Given the description of an element on the screen output the (x, y) to click on. 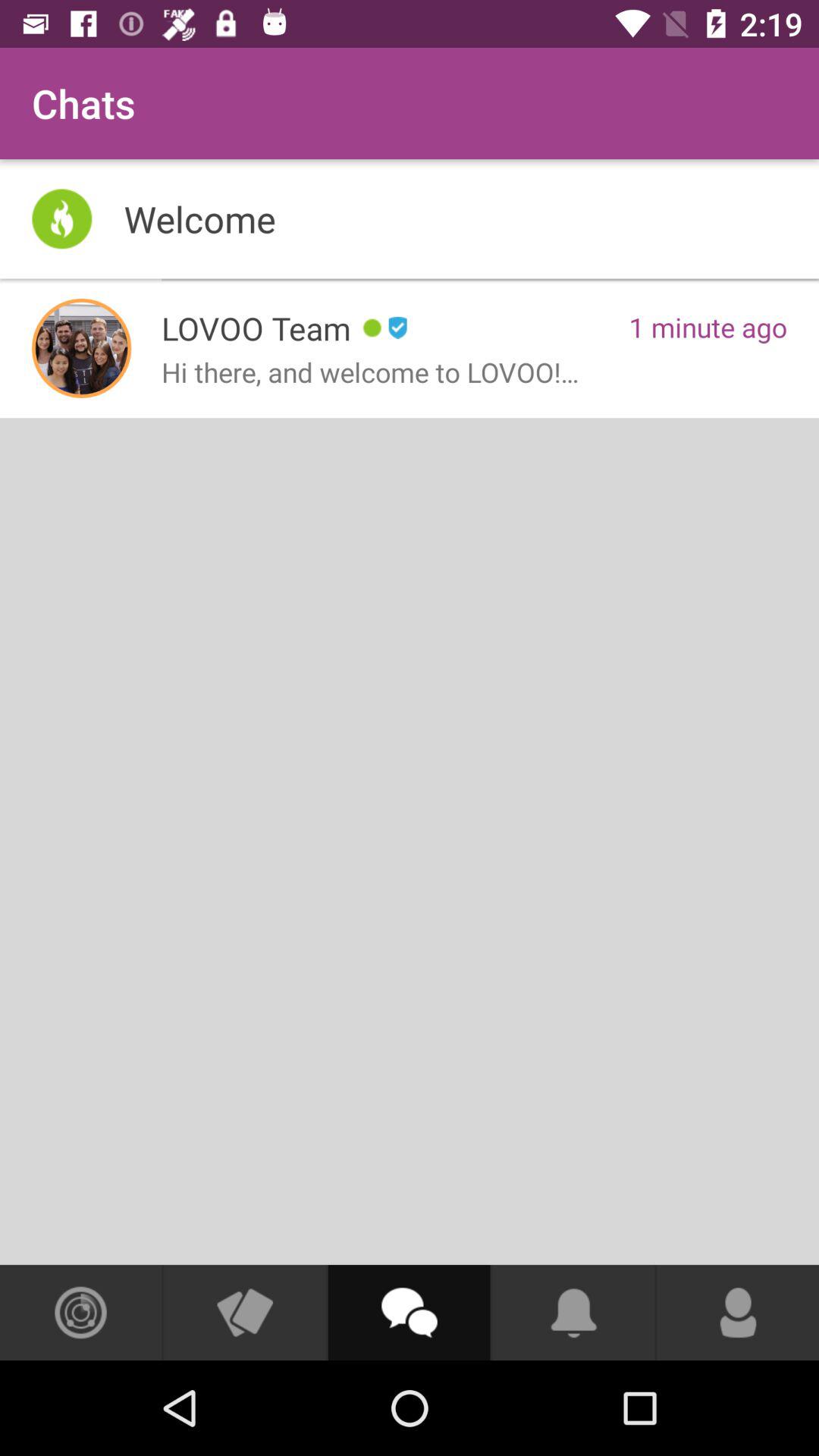
configuration option (80, 1312)
